Given the description of an element on the screen output the (x, y) to click on. 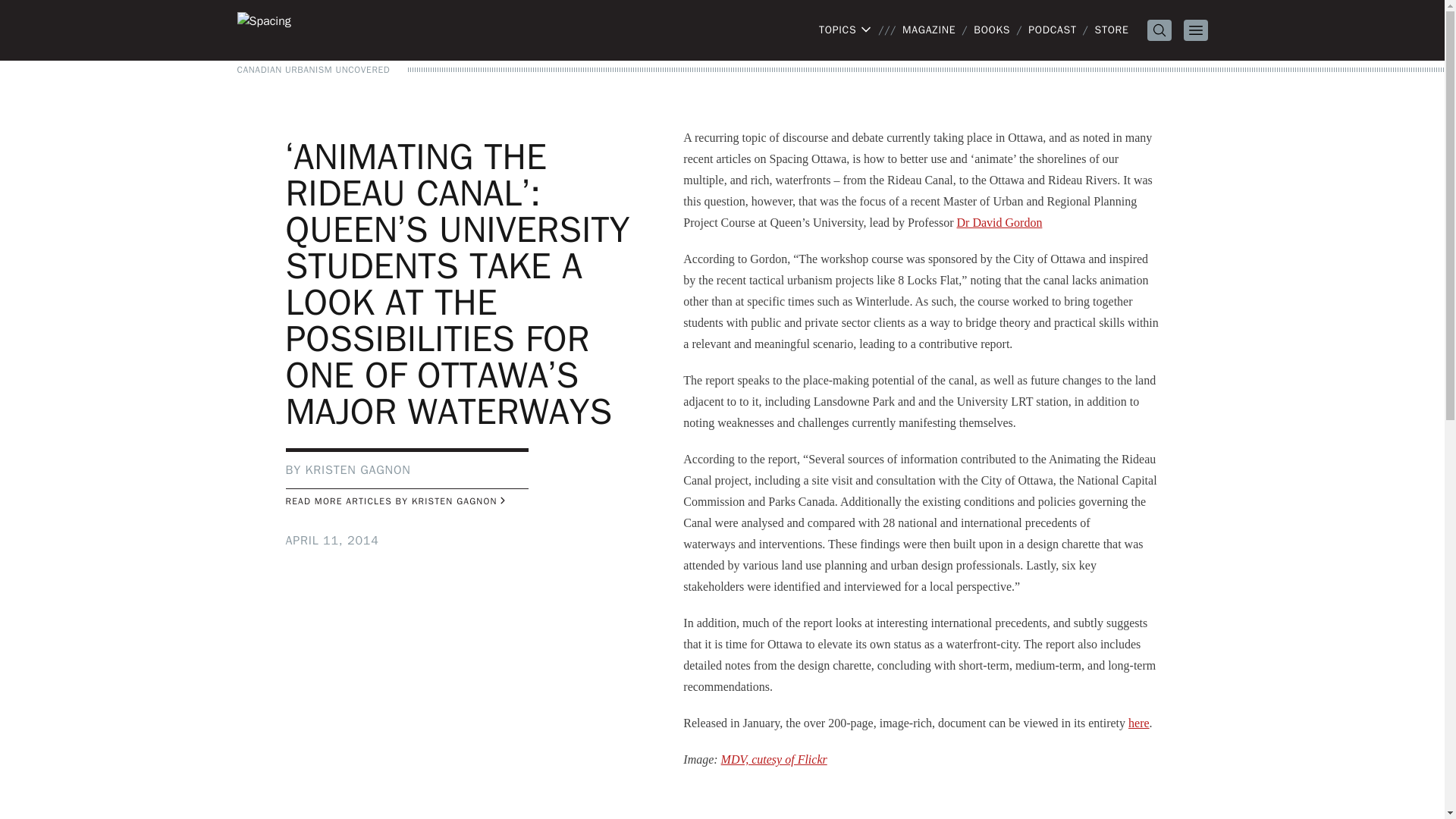
MAGAZINE (928, 29)
BOOKS (992, 29)
TOPICS (845, 29)
